Given the description of an element on the screen output the (x, y) to click on. 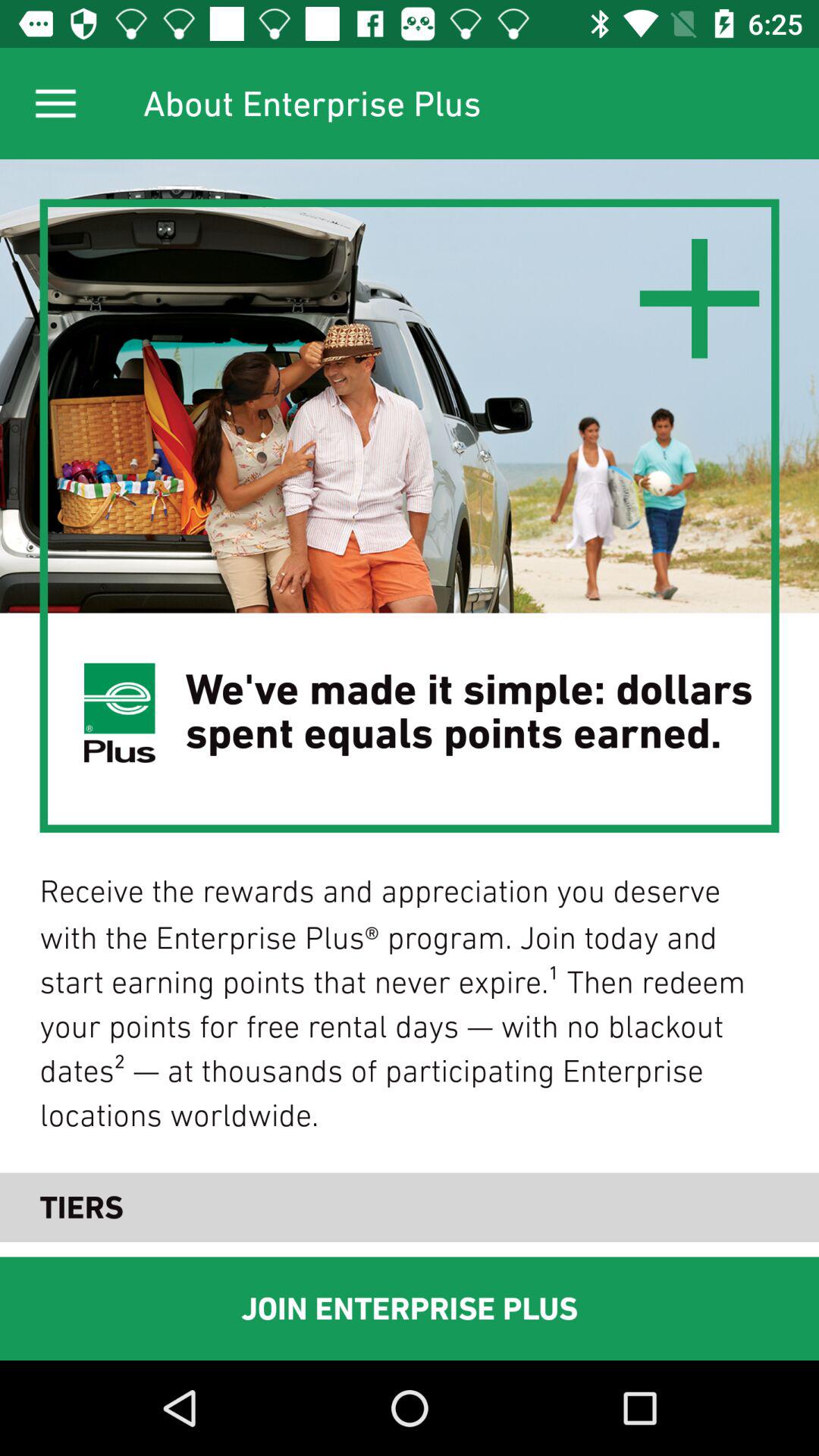
tap the icon at the top left corner (55, 103)
